Given the description of an element on the screen output the (x, y) to click on. 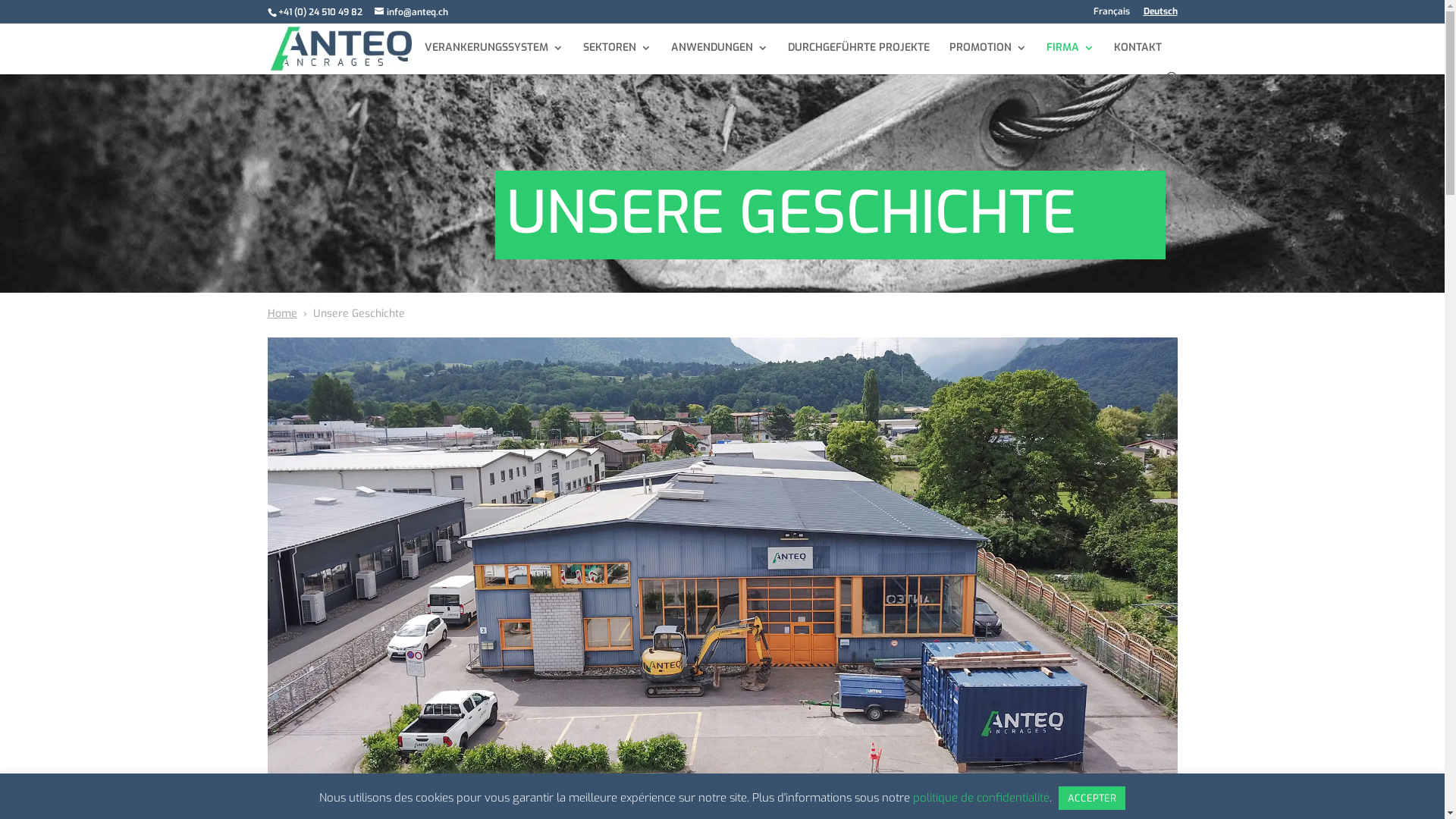
anteq-ancrages_locaux-bex-anteq Element type: hover (721, 572)
VERANKERUNGSSYSTEM Element type: text (493, 57)
info@anteq.ch Element type: text (411, 12)
ACCEPTER Element type: text (1091, 797)
Deutsch Element type: text (1160, 14)
FIRMA Element type: text (1070, 57)
Home Element type: text (281, 313)
ANWENDUNGEN Element type: text (718, 57)
KONTAKT Element type: text (1137, 57)
SEKTOREN Element type: text (616, 57)
PROMOTION Element type: text (987, 57)
